Given the description of an element on the screen output the (x, y) to click on. 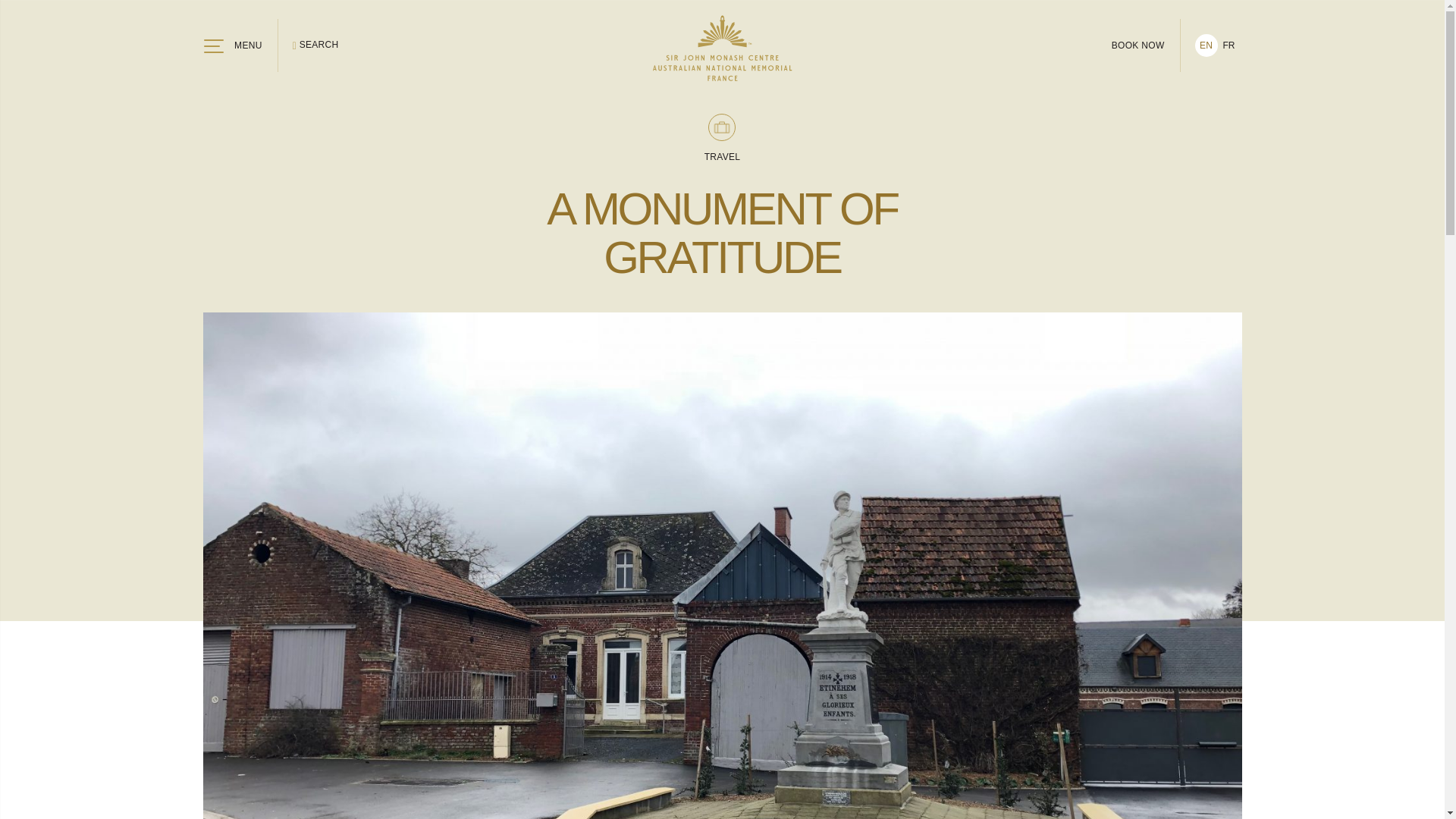
Sitemap (222, 780)
BOOK NOW (1138, 45)
Book your visit (721, 588)
SEARCH (315, 45)
Instagram (787, 780)
MENU (232, 45)
Twitter (649, 780)
Facebook (715, 780)
